Given the description of an element on the screen output the (x, y) to click on. 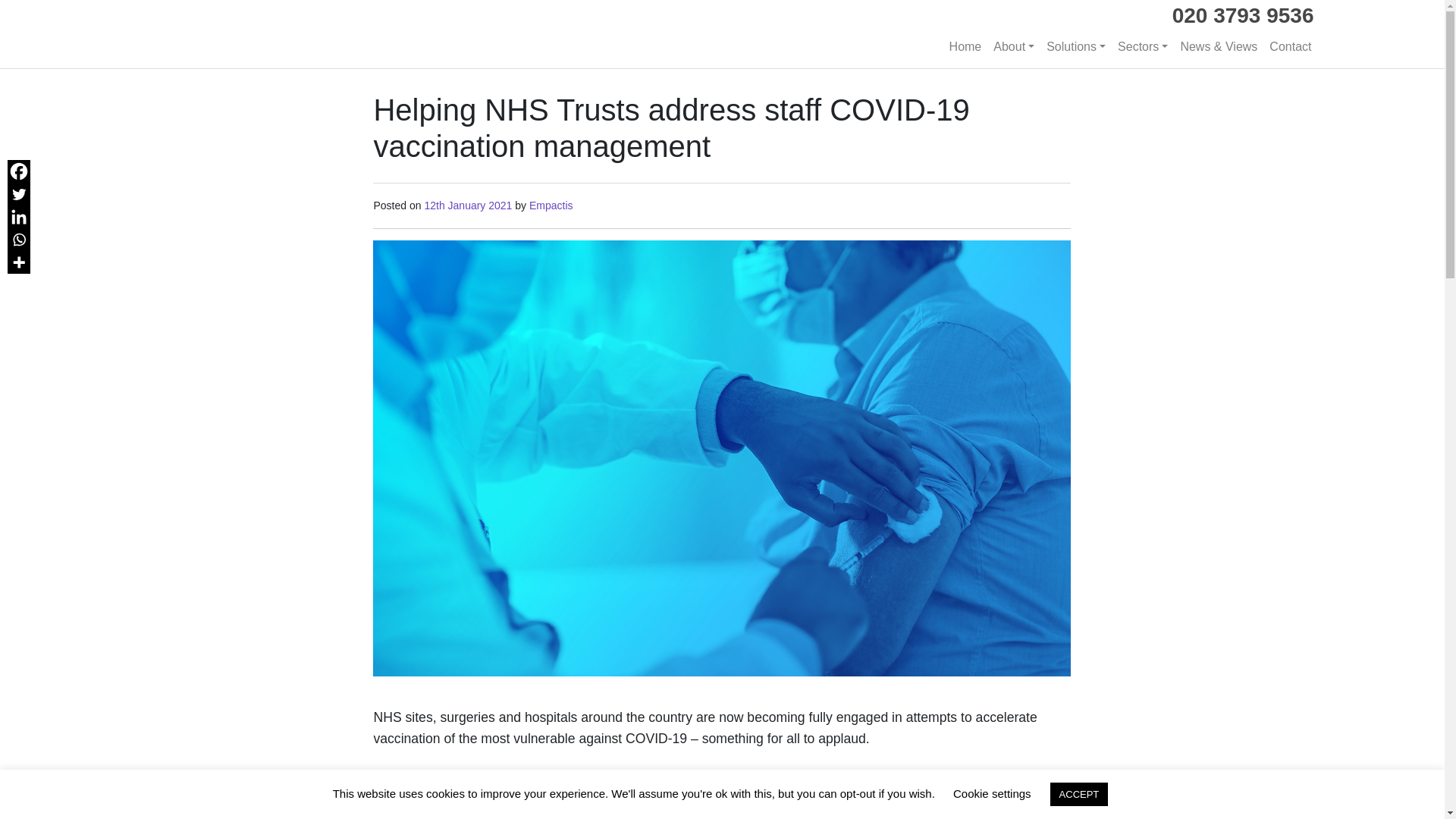
Home (965, 46)
Empactis (548, 205)
Sectors (1142, 46)
Sectors (1142, 46)
About (1014, 46)
Home (965, 46)
Solutions (1076, 46)
About (1014, 46)
Contact (1290, 46)
Solutions (1076, 46)
12th January 2021 (467, 205)
